Given the description of an element on the screen output the (x, y) to click on. 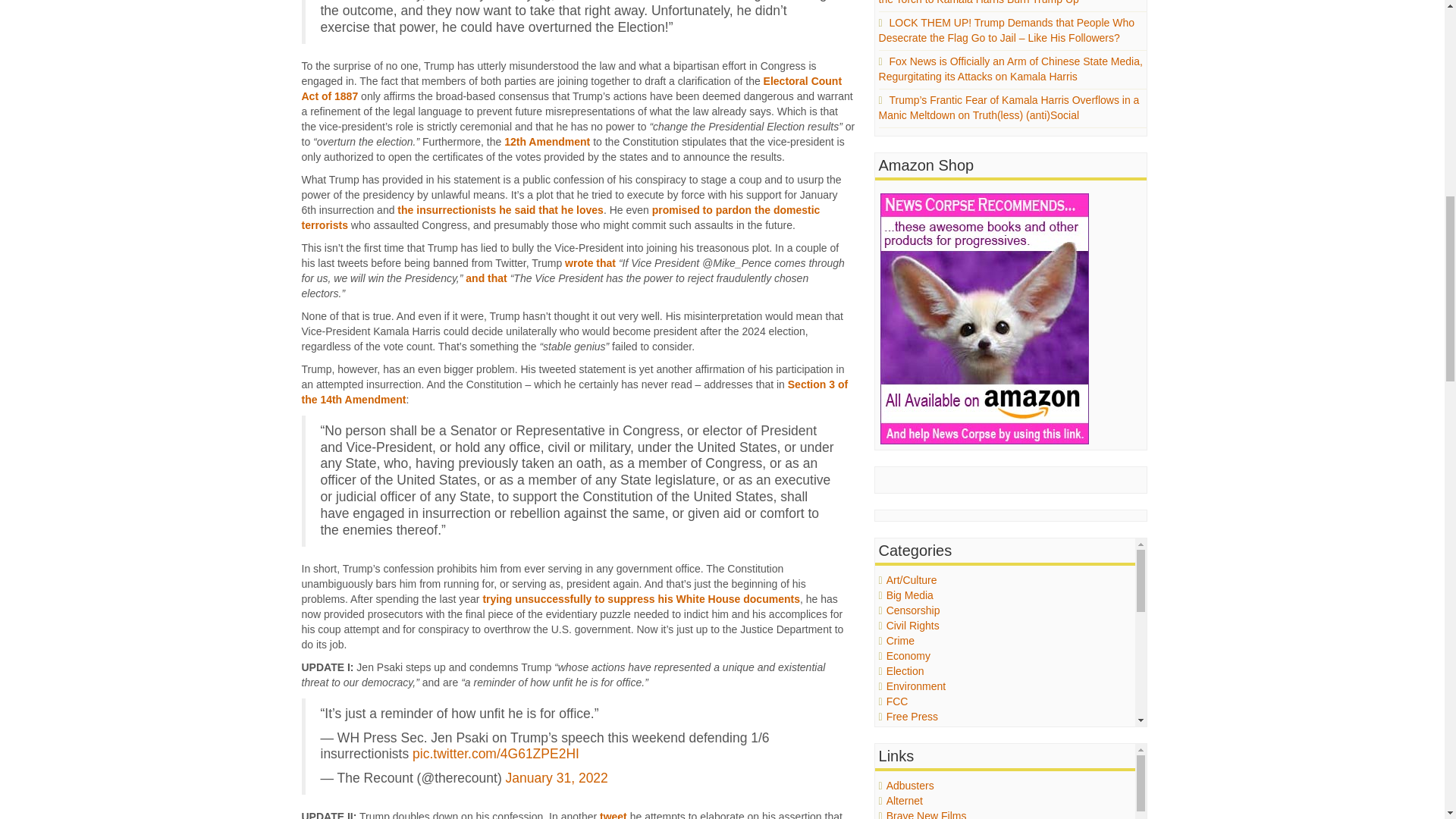
Section 3 of the 14th Amendment (574, 391)
tweet (613, 814)
and that (485, 277)
January 31, 2022 (556, 777)
12th Amendment (546, 141)
trying unsuccessfully to suppress his White House documents (640, 598)
Electoral Count Act of 1887 (572, 88)
promised to pardon the domestic terrorists (561, 216)
wrote that (589, 263)
the insurrectionists he said that he loves (500, 209)
